Given the description of an element on the screen output the (x, y) to click on. 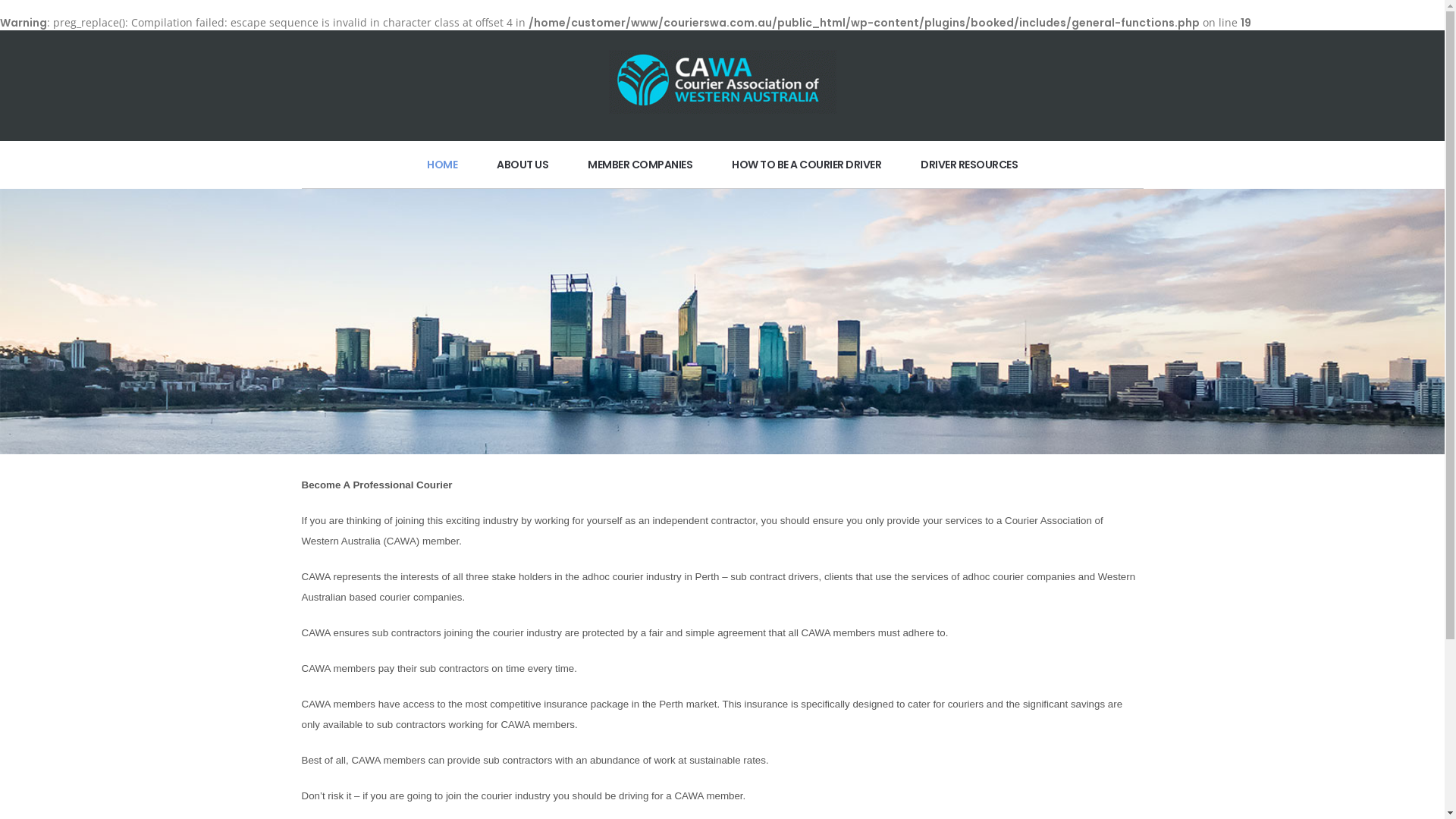
HOME Element type: text (441, 164)
ABOUT US Element type: text (521, 164)
DRIVER RESOURCES Element type: text (968, 164)
HOW TO BE A COURIER DRIVER Element type: text (806, 164)
MEMBER COMPANIES Element type: text (639, 164)
